Given the description of an element on the screen output the (x, y) to click on. 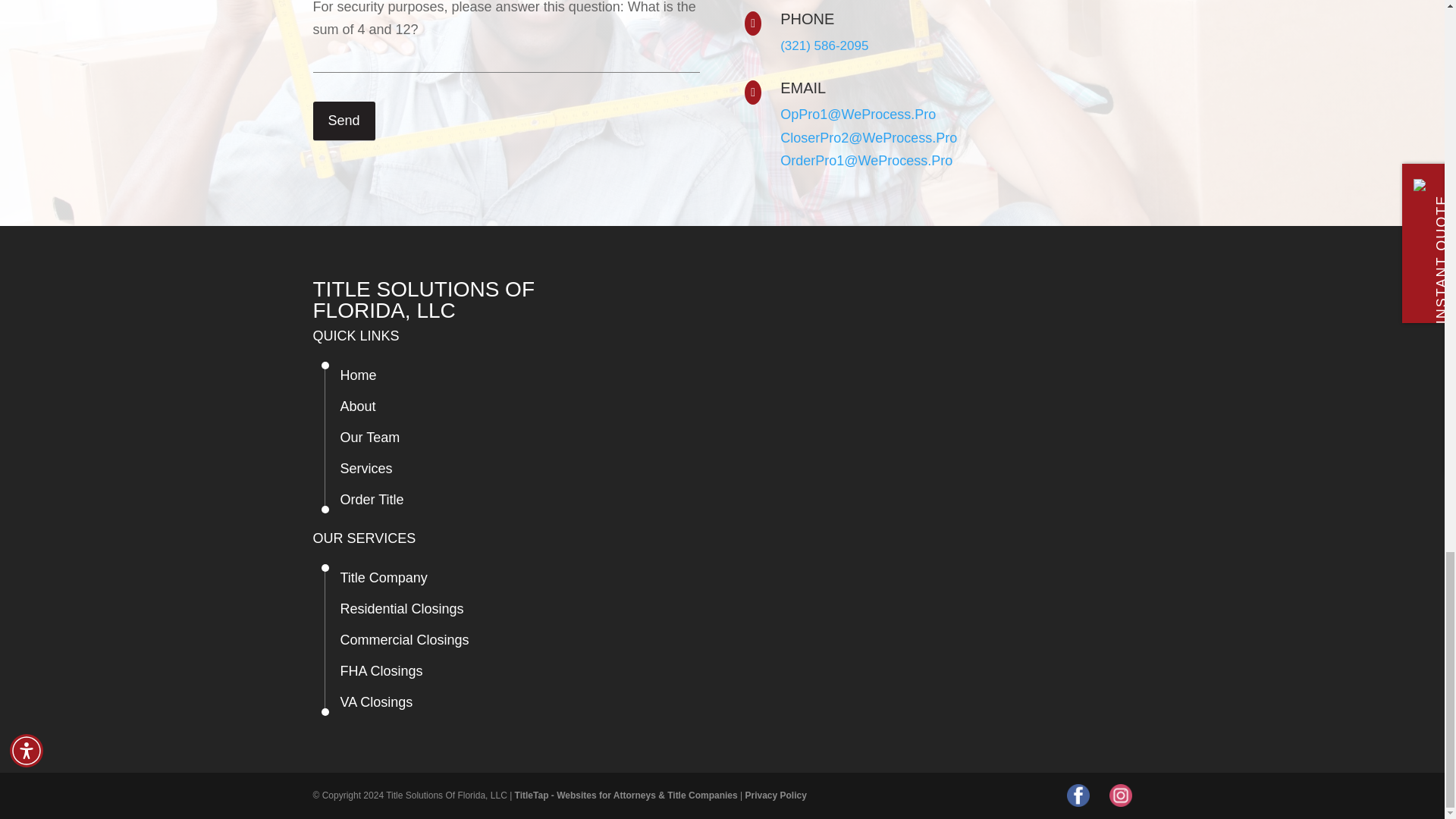
About (357, 406)
Call Us (823, 45)
Home (357, 375)
Send (343, 120)
